Given the description of an element on the screen output the (x, y) to click on. 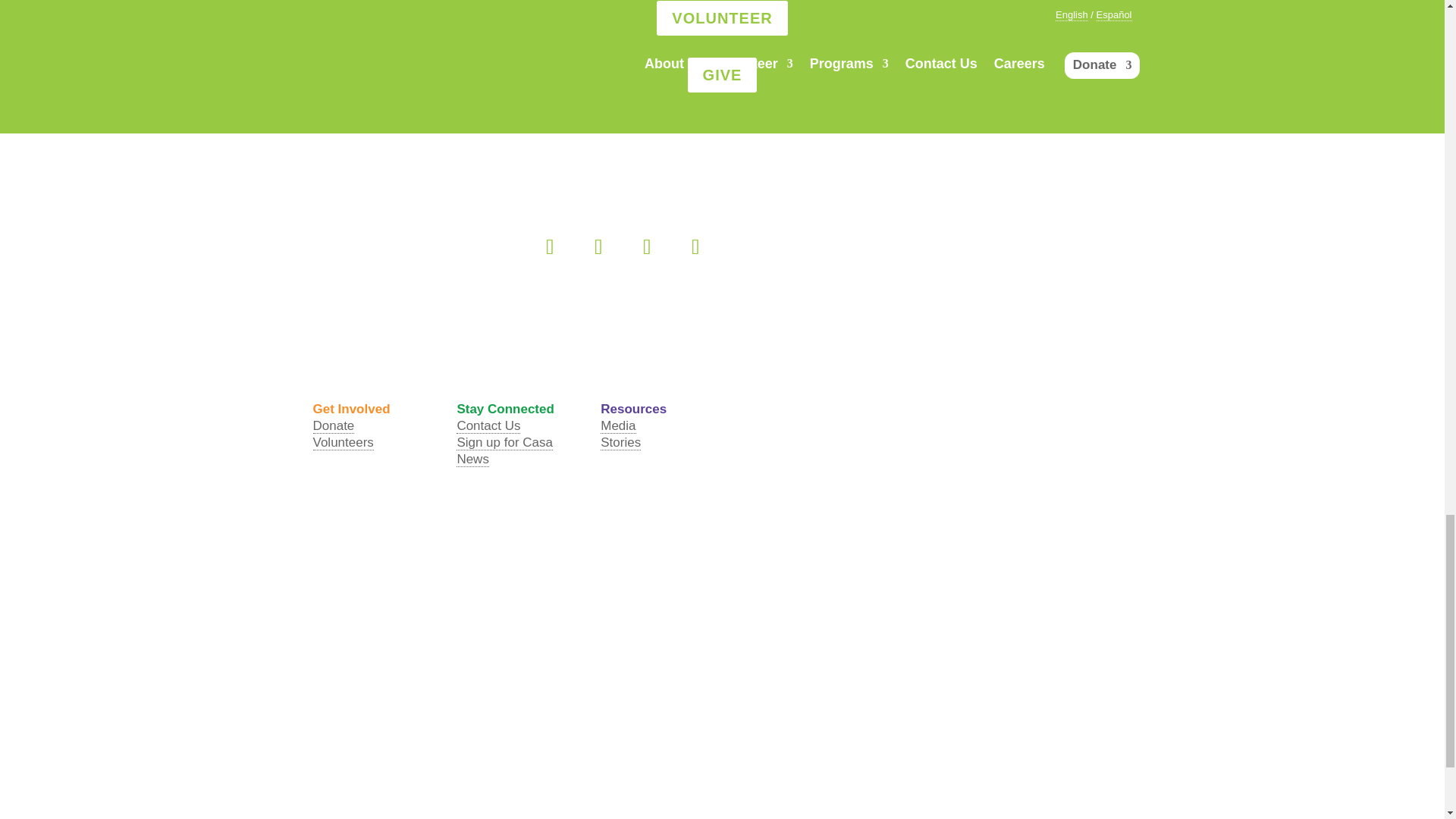
Follow on Youtube (695, 247)
Follow on Facebook (549, 247)
Follow on Instagram (647, 247)
Follow on X (598, 247)
